Given the description of an element on the screen output the (x, y) to click on. 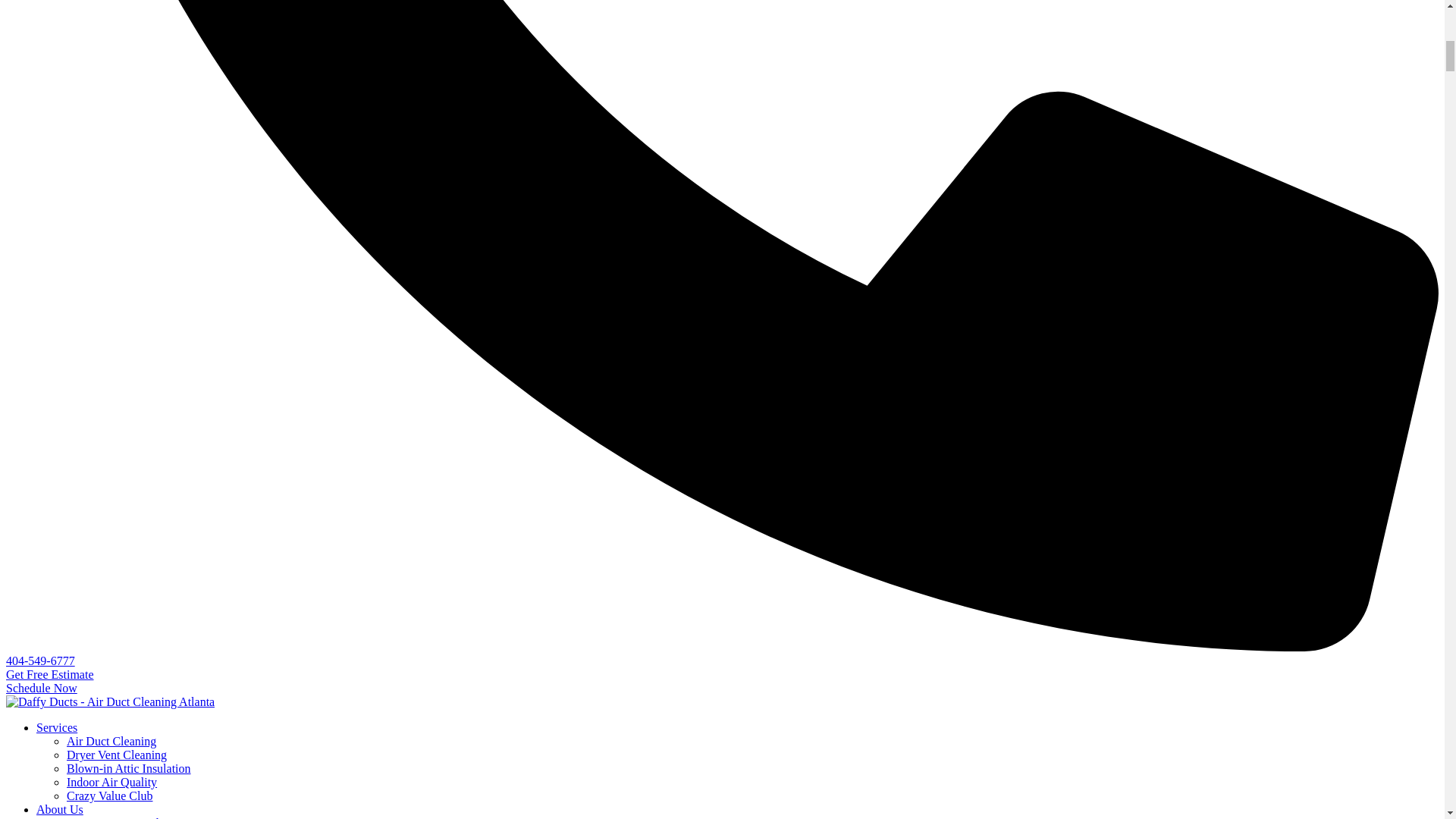
HVAC Duct Cleaning (110, 740)
Get Free Estimate (49, 674)
Blown-in Attic Insulation (128, 768)
Services (56, 727)
About Us (59, 809)
Crazy Value Club (109, 795)
Services (56, 727)
Schedule Now (41, 687)
About Us (59, 809)
Indoor Air Quality (111, 781)
